Given the description of an element on the screen output the (x, y) to click on. 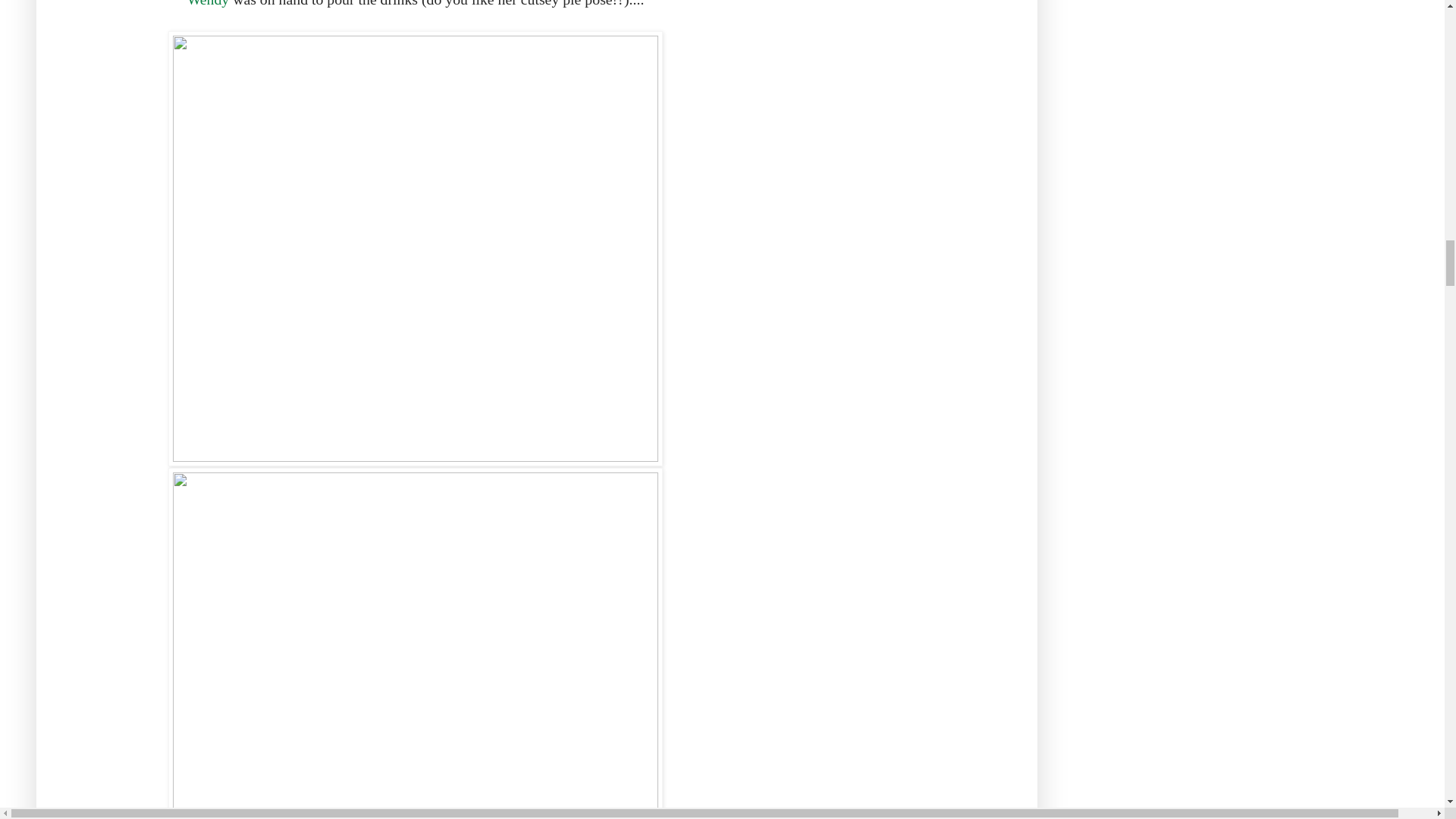
Wendy (208, 3)
